Given the description of an element on the screen output the (x, y) to click on. 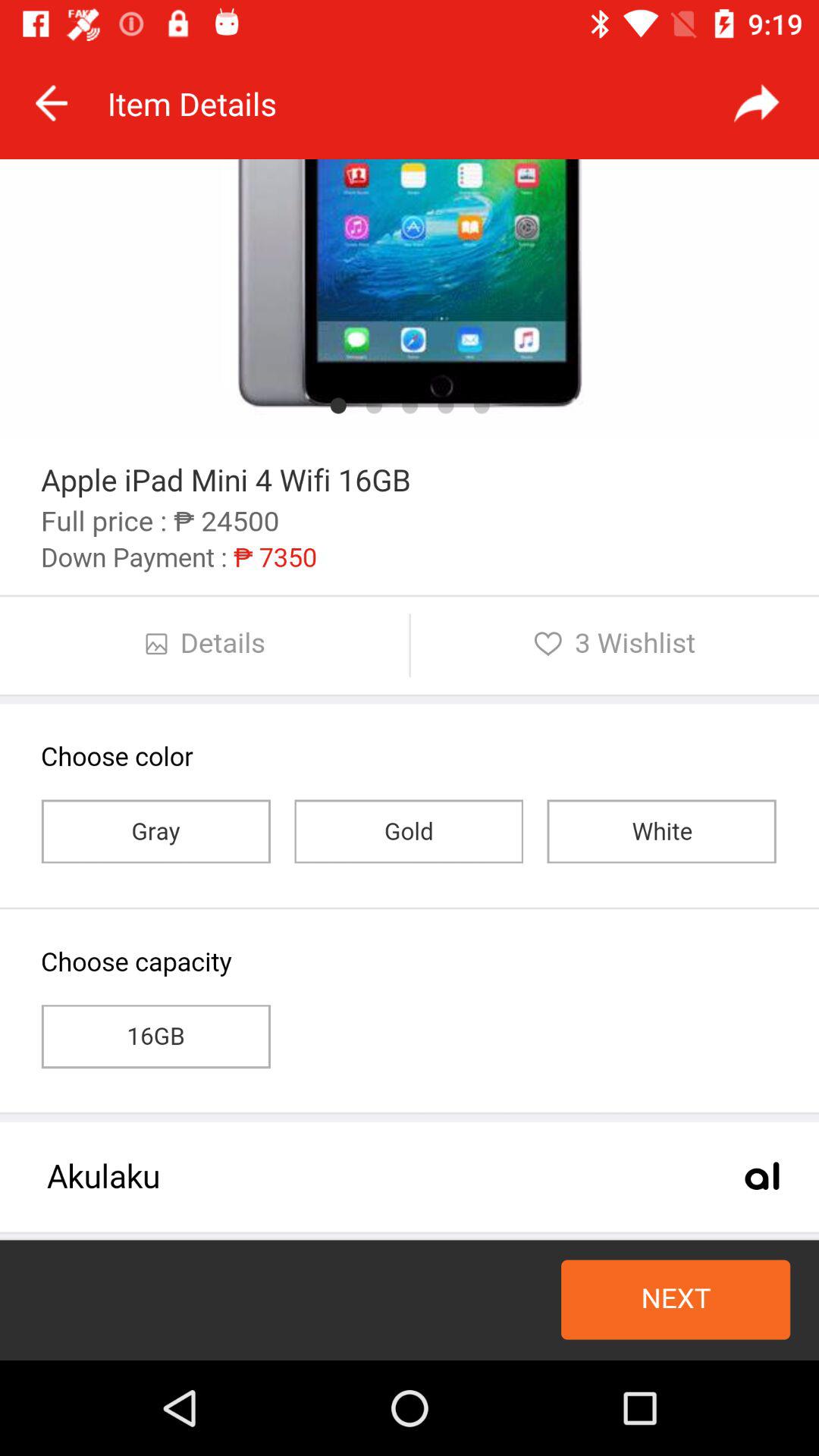
go buy (409, 759)
